Given the description of an element on the screen output the (x, y) to click on. 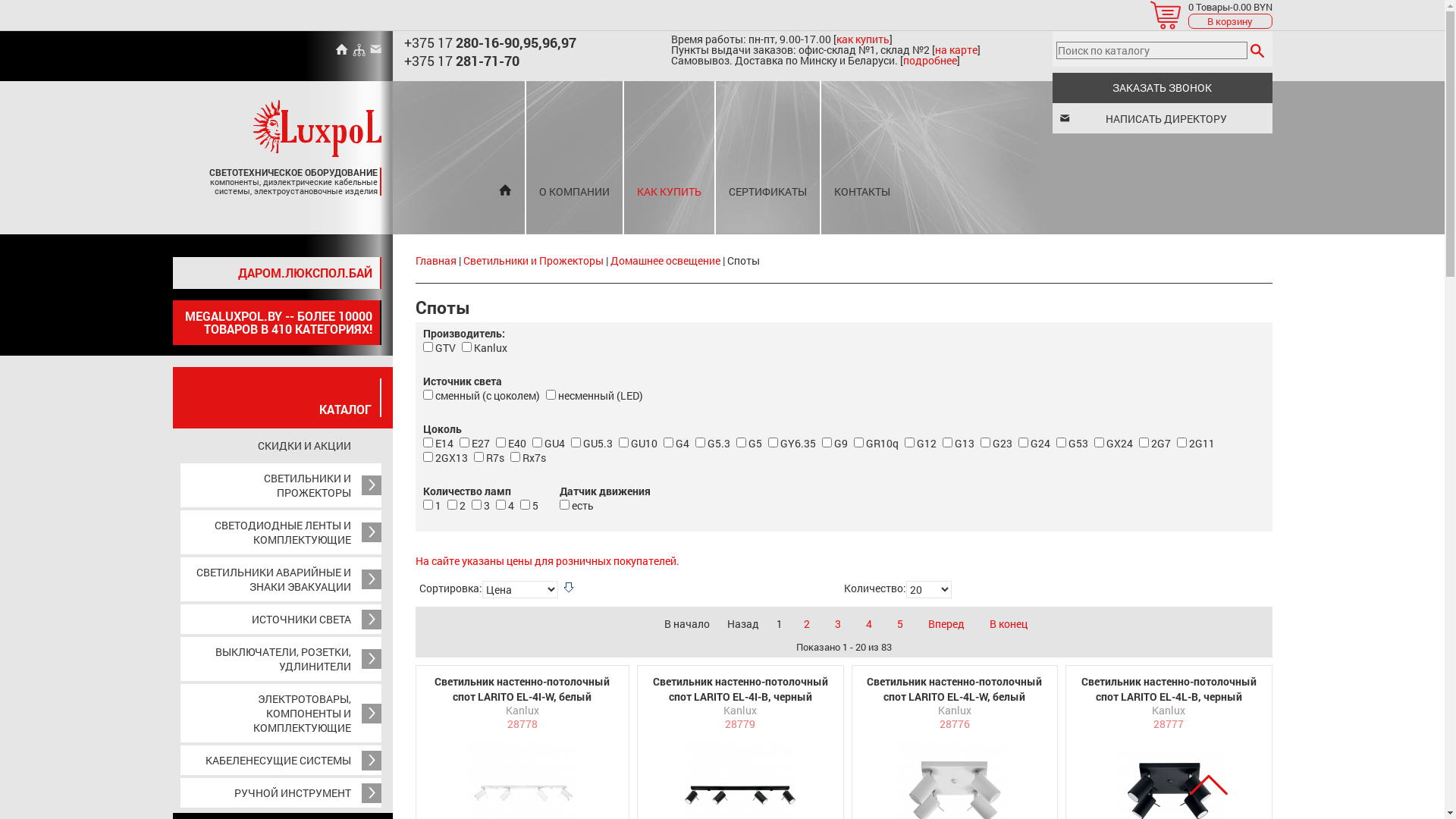
29 Element type: text (946, 442)
26 Element type: text (826, 442)
2 Element type: text (805, 623)
19 Element type: text (464, 442)
20 Element type: text (500, 442)
36 Element type: text (514, 456)
18 Element type: text (428, 442)
56 Element type: text (452, 504)
23 Element type: text (740, 442)
33 Element type: text (1143, 442)
57 Element type: text (476, 504)
35 Element type: text (478, 456)
32 Element type: text (1098, 442)
28 Element type: text (908, 442)
59 Element type: text (525, 504)
5 Element type: text (899, 623)
74 Element type: text (428, 456)
4 Element type: text (465, 346)
25 Element type: text (772, 442)
44 Element type: text (564, 504)
21 Element type: text (667, 442)
31 Element type: text (1022, 442)
48 Element type: text (550, 394)
22 Element type: text (537, 442)
37 Element type: text (858, 442)
24 Element type: text (575, 442)
3 Element type: text (837, 623)
4 Element type: text (868, 623)
27 Element type: text (623, 442)
15 Element type: text (428, 346)
30 Element type: text (984, 442)
58 Element type: text (500, 504)
  Element type: text (1256, 50)
34 Element type: text (1181, 442)
55 Element type: text (428, 504)
45 Element type: text (699, 442)
47 Element type: text (428, 394)
46 Element type: text (1060, 442)
